Given the description of an element on the screen output the (x, y) to click on. 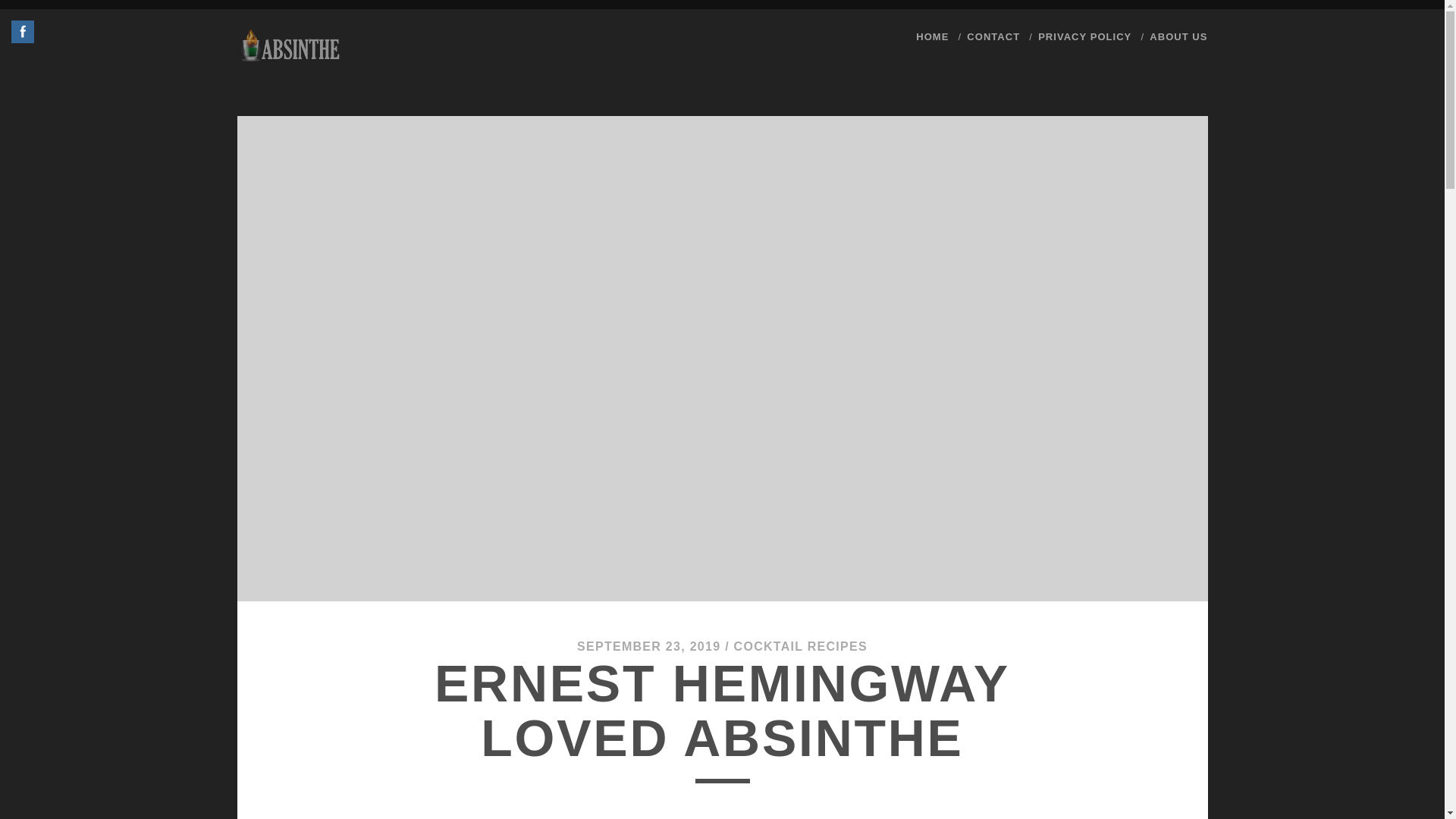
ABOUT US (1178, 36)
PRIVACY POLICY (1084, 36)
Facebook (22, 31)
HOME (932, 36)
CONTACT (993, 36)
COCKTAIL RECIPES (800, 645)
